Given the description of an element on the screen output the (x, y) to click on. 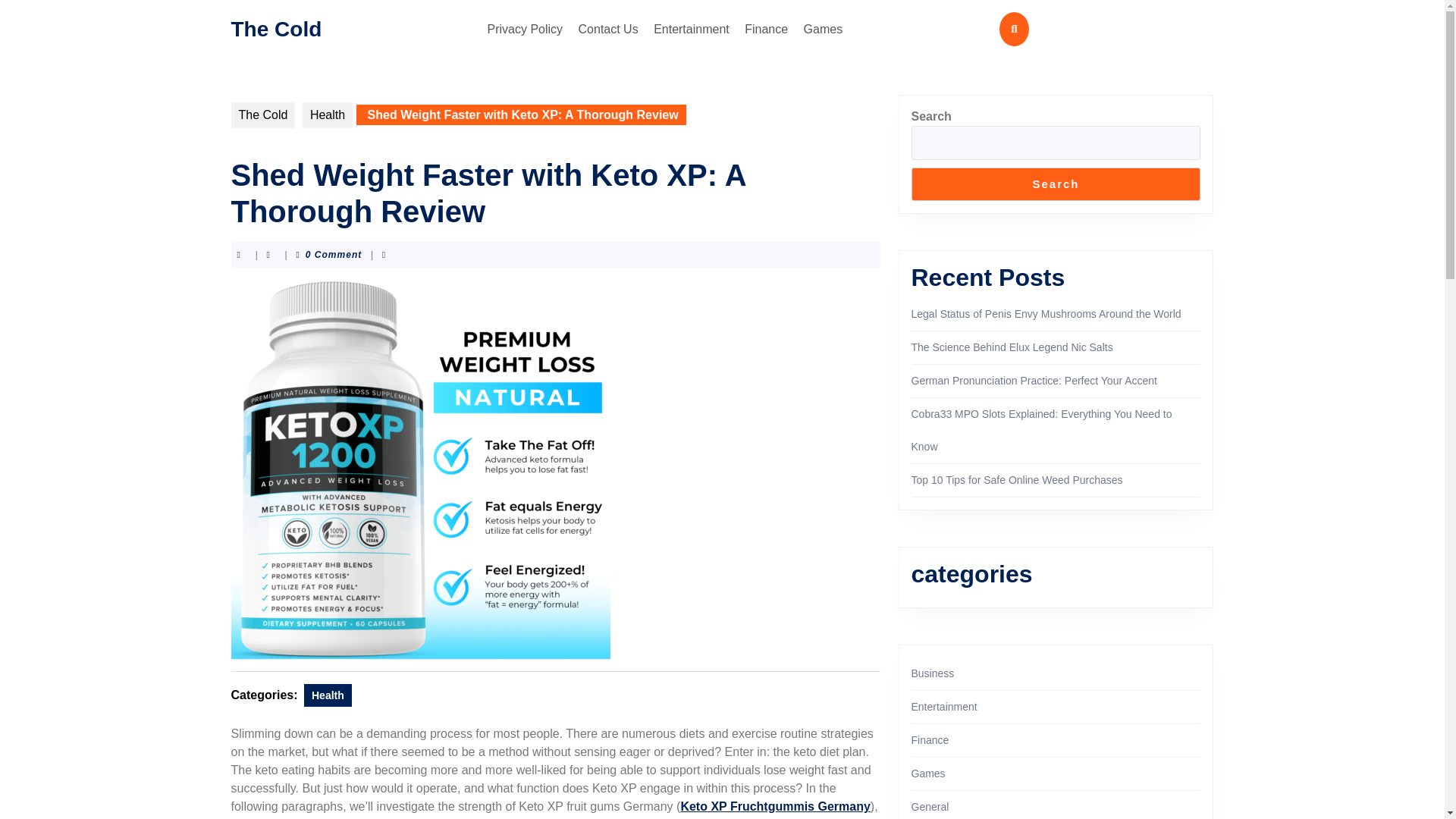
The Cold (262, 114)
Keto XP Fruchtgummis Germany (774, 806)
Health (328, 694)
Games (822, 28)
The Science Behind Elux Legend Nic Salts (1012, 346)
Top 10 Tips for Safe Online Weed Purchases (1016, 480)
Contact Us (608, 28)
Finance (765, 28)
Cobra33 MPO Slots Explained: Everything You Need to Know (1041, 429)
Entertainment (691, 28)
Legal Status of Penis Envy Mushrooms Around the World (1045, 313)
German Pronunciation Practice: Perfect Your Accent (1034, 380)
The Cold (275, 28)
Health (327, 114)
Privacy Policy (524, 28)
